Given the description of an element on the screen output the (x, y) to click on. 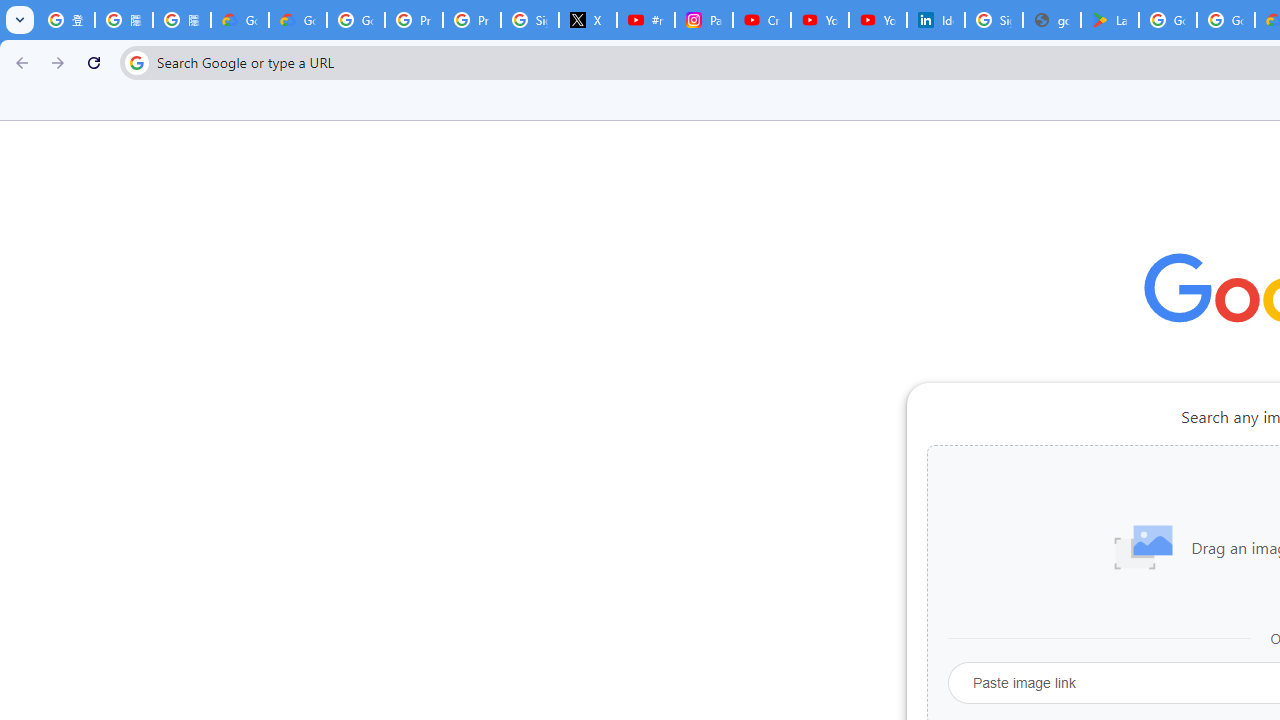
Google Workspace - Specific Terms (1225, 20)
YouTube Culture & Trends - YouTube Top 10, 2021 (877, 20)
google_privacy_policy_en.pdf (1051, 20)
Last Shelter: Survival - Apps on Google Play (1110, 20)
#nbabasketballhighlights - YouTube (645, 20)
